Given the description of an element on the screen output the (x, y) to click on. 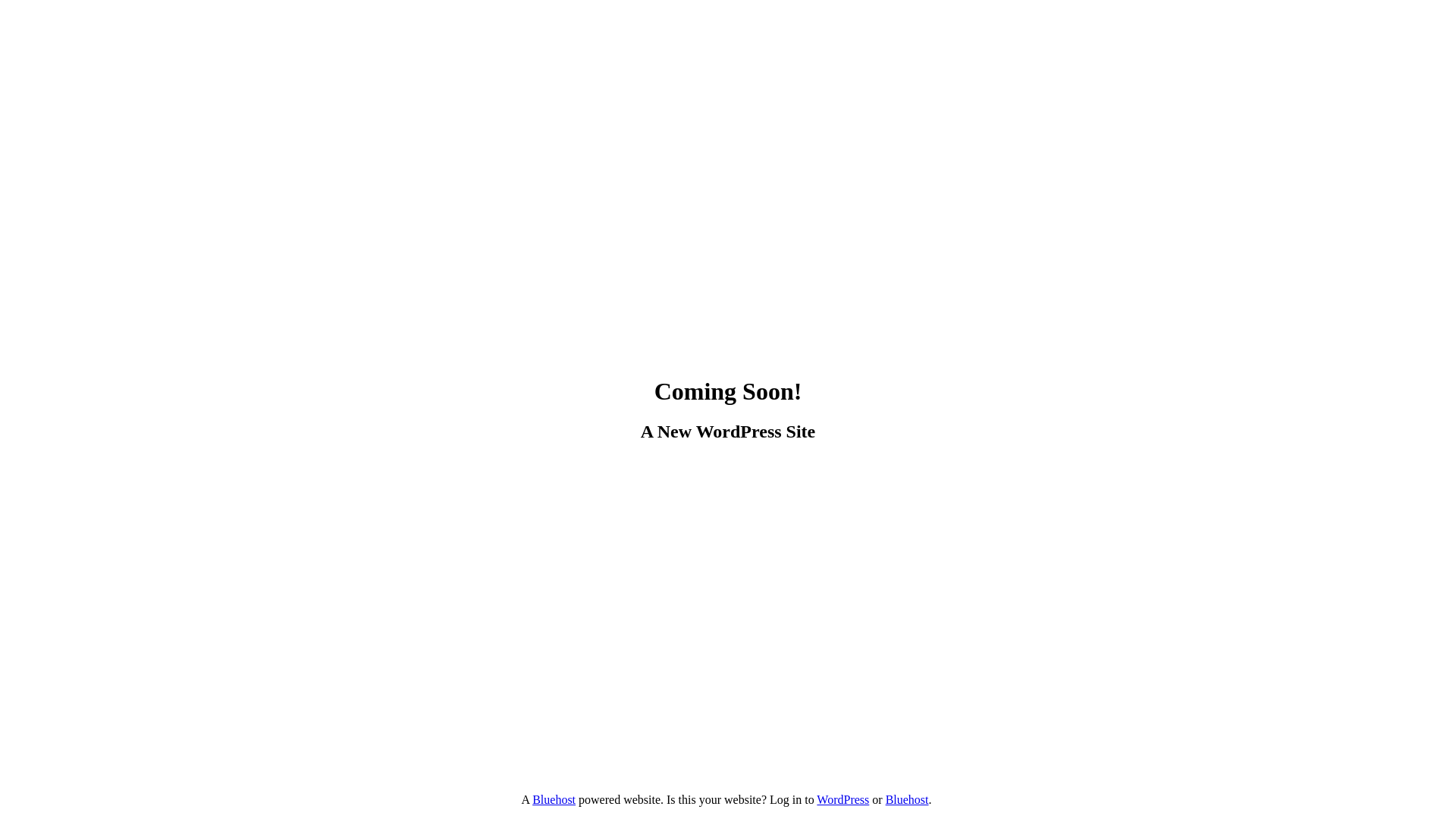
Bluehost Element type: text (553, 799)
WordPress Element type: text (842, 799)
Bluehost Element type: text (906, 799)
